Given the description of an element on the screen output the (x, y) to click on. 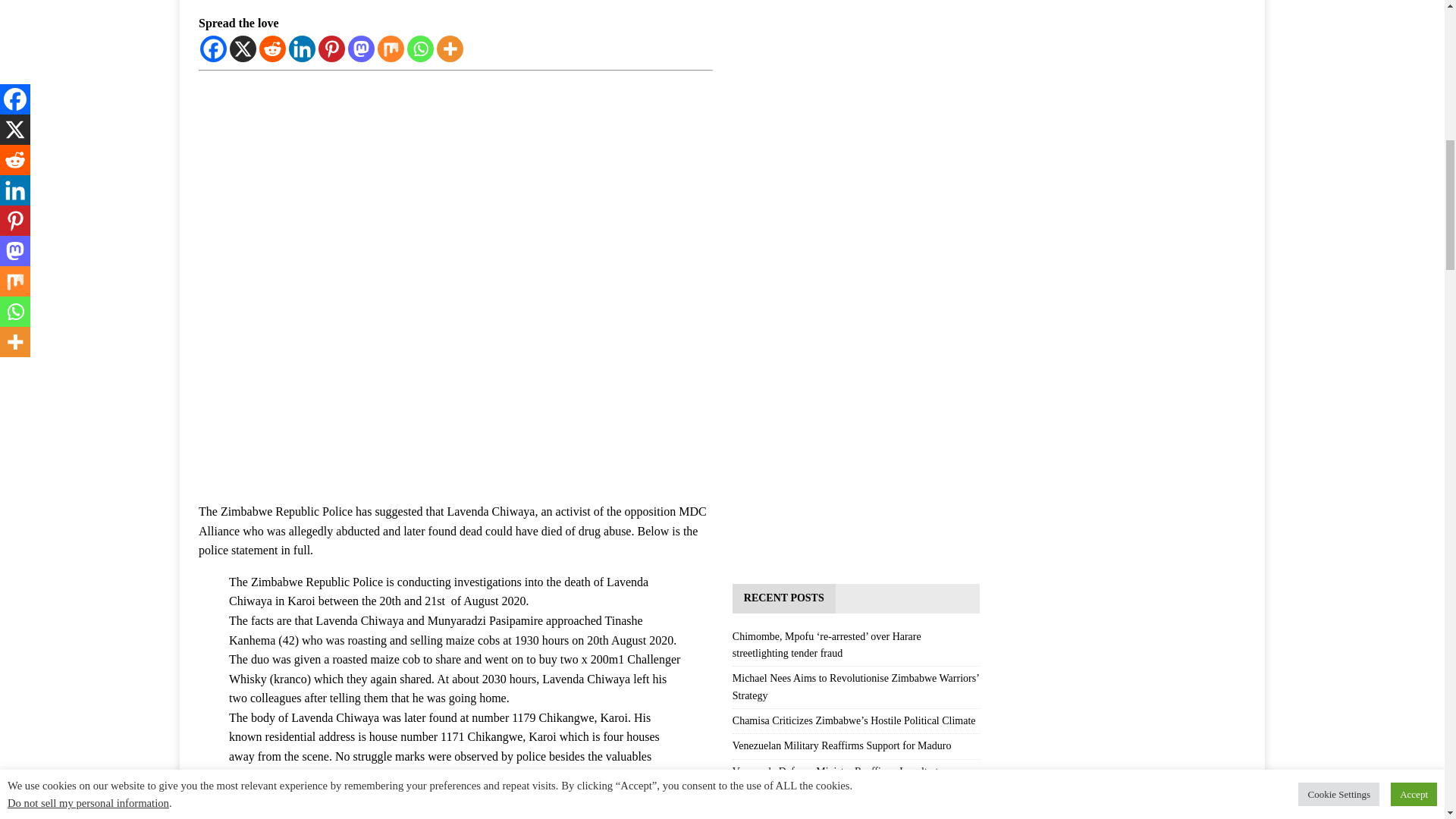
Pinterest (331, 49)
Whatsapp (420, 49)
Mix (390, 49)
Reddit (272, 49)
Facebook (213, 49)
Mastodon (360, 49)
X (243, 49)
Linkedin (301, 49)
